Given the description of an element on the screen output the (x, y) to click on. 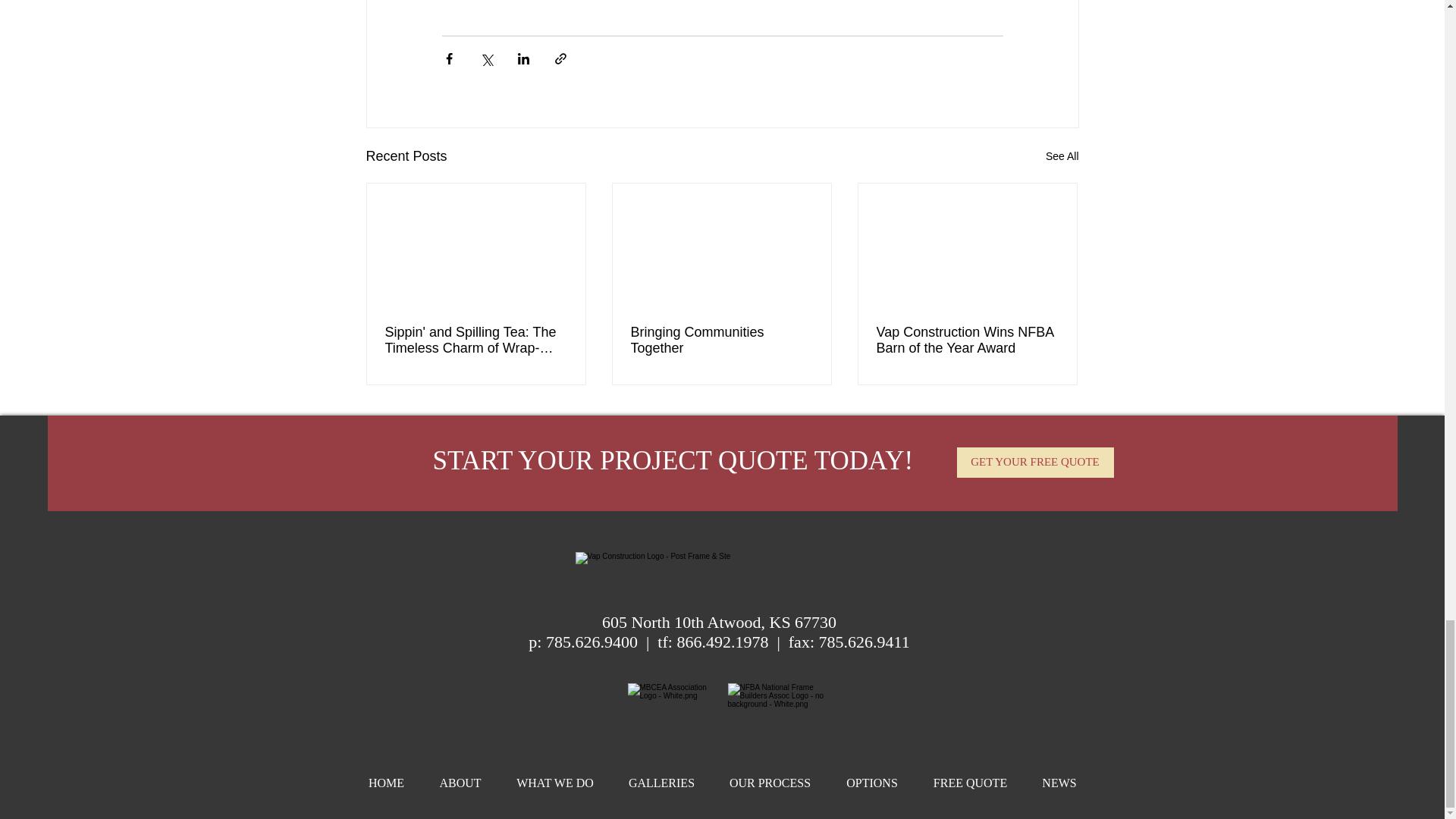
Bringing Communities Together (721, 340)
See All (1061, 156)
